Given the description of an element on the screen output the (x, y) to click on. 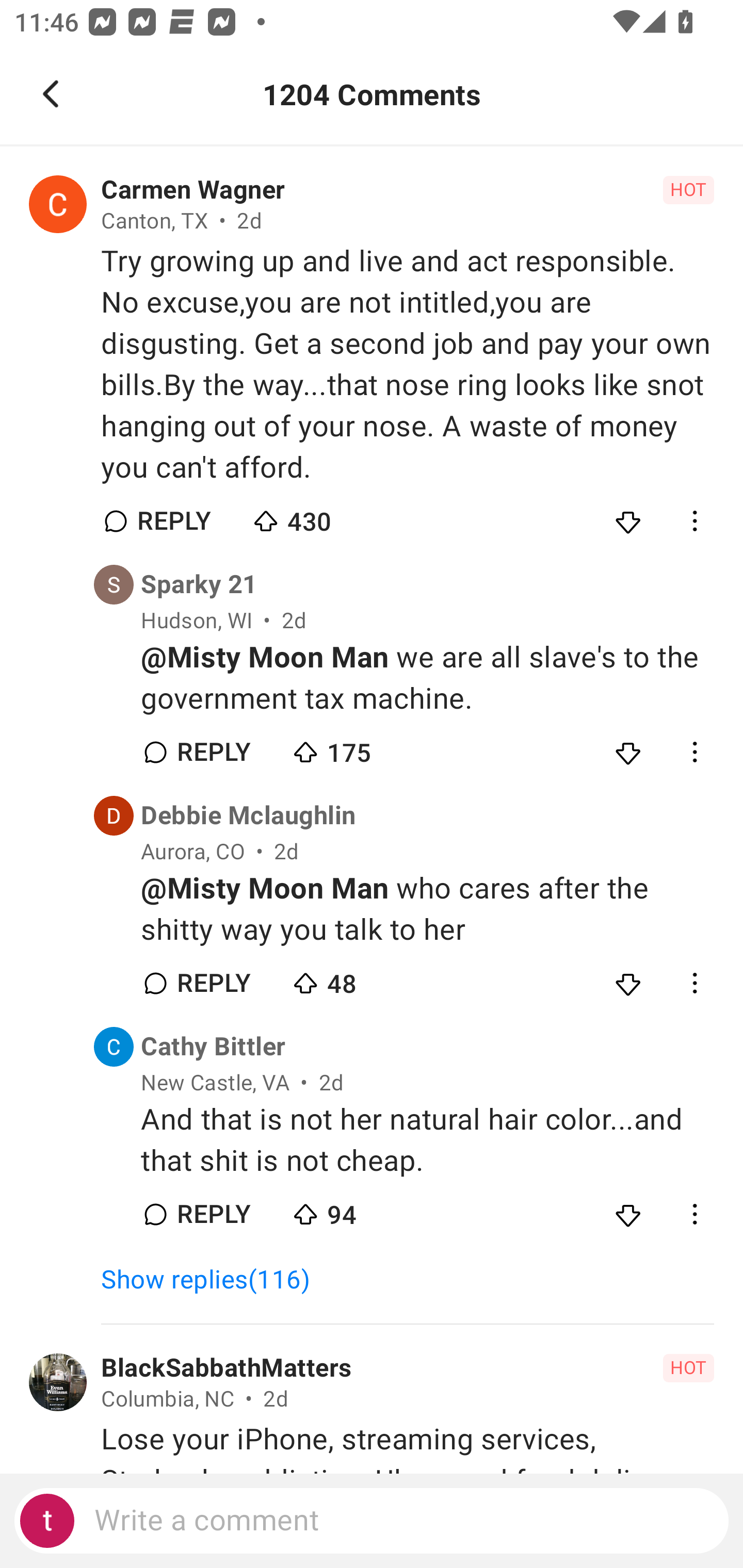
Navigate up (50, 93)
Carmen Wagner (193, 190)
430 (320, 516)
REPLY (173, 521)
Sparky 21 (199, 583)
175 (360, 747)
REPLY (213, 751)
Debbie Mclaughlin (248, 816)
48 (360, 979)
REPLY (213, 983)
Cathy Bittler (213, 1046)
94 (360, 1209)
REPLY (213, 1214)
Show replies(116) (214, 1280)
BlackSabbathMatters (226, 1367)
Write a comment (371, 1520)
